Given the description of an element on the screen output the (x, y) to click on. 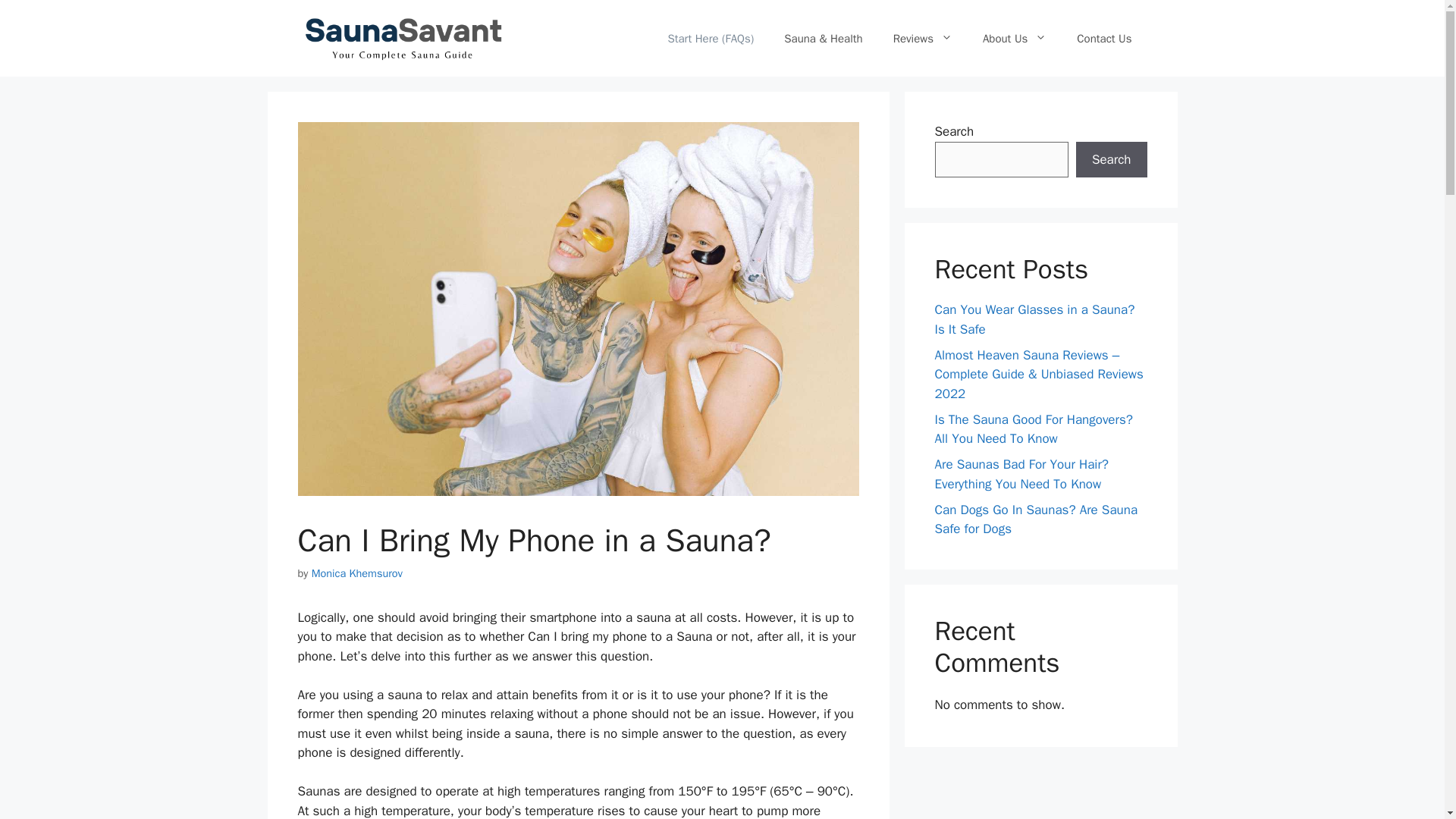
Contact Us (1104, 38)
About Us (1014, 38)
Can You Wear Glasses in a Sauna? Is It Safe (1034, 319)
View all posts by Monica Khemsurov (357, 572)
Are Saunas Bad For Your Hair? Everything You Need To Know (1021, 474)
Search (1111, 159)
Is The Sauna Good For Hangovers? All You Need To Know (1033, 429)
Reviews (922, 38)
Can Dogs Go In Saunas? Are Sauna Safe for Dogs (1035, 519)
Monica Khemsurov (357, 572)
